Given the description of an element on the screen output the (x, y) to click on. 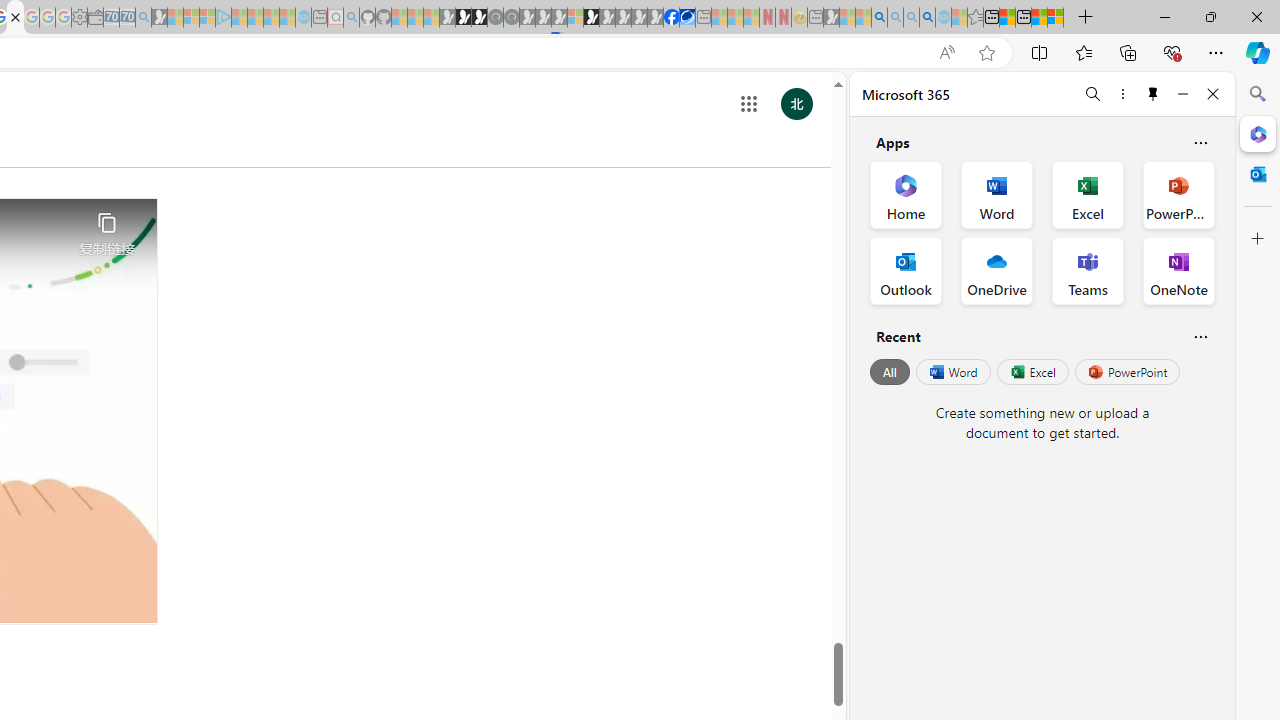
Nordace | Facebook (671, 17)
